Given the description of an element on the screen output the (x, y) to click on. 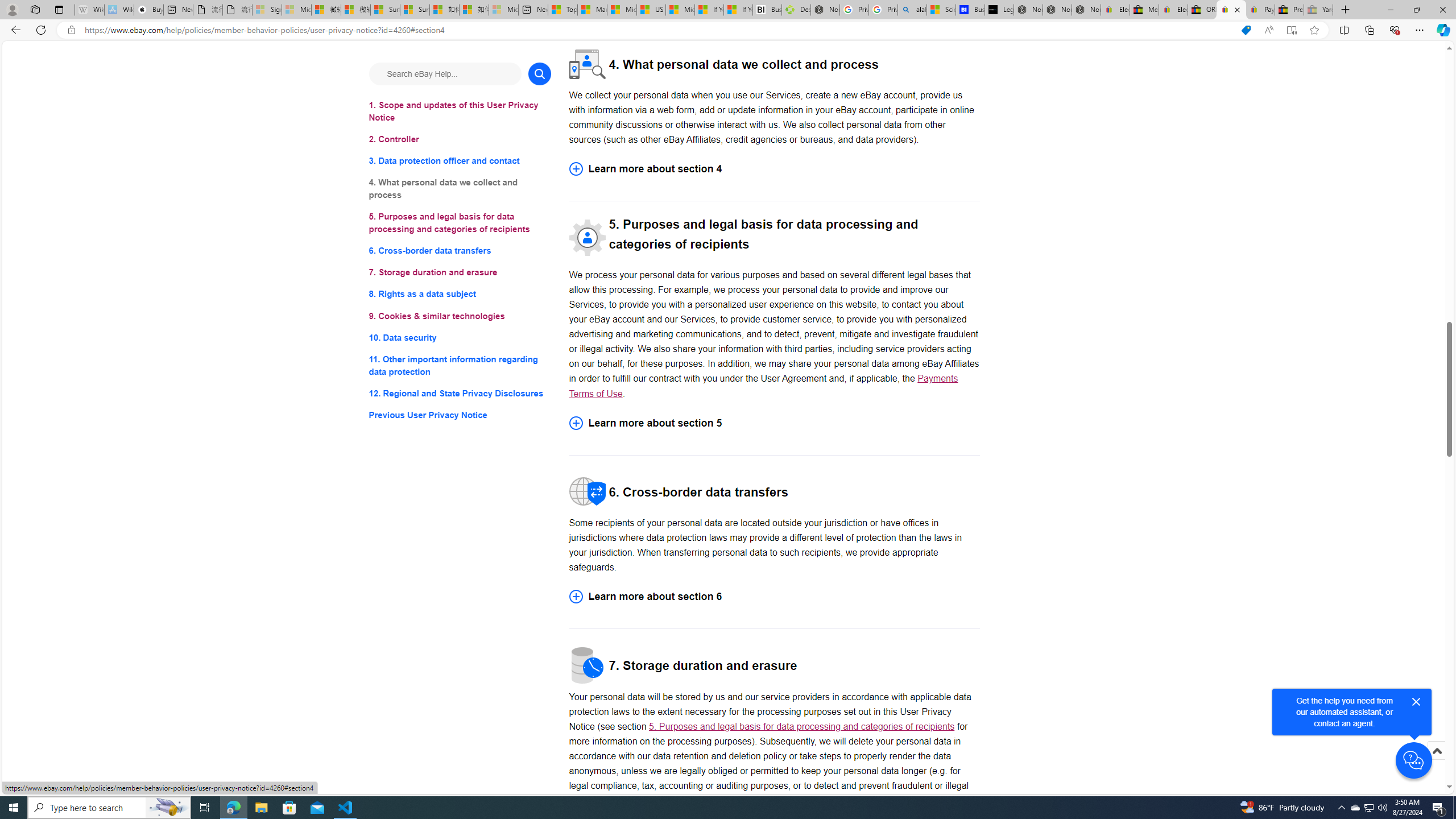
6. Cross-border data transfers (459, 250)
9. Cookies & similar technologies (459, 315)
Learn more about section 6 (774, 596)
User Privacy Notice | eBay (1230, 9)
Payments Terms of Use - opens in new window or tab (763, 385)
3. Data protection officer and contact (459, 160)
10. Data security (459, 336)
